Given the description of an element on the screen output the (x, y) to click on. 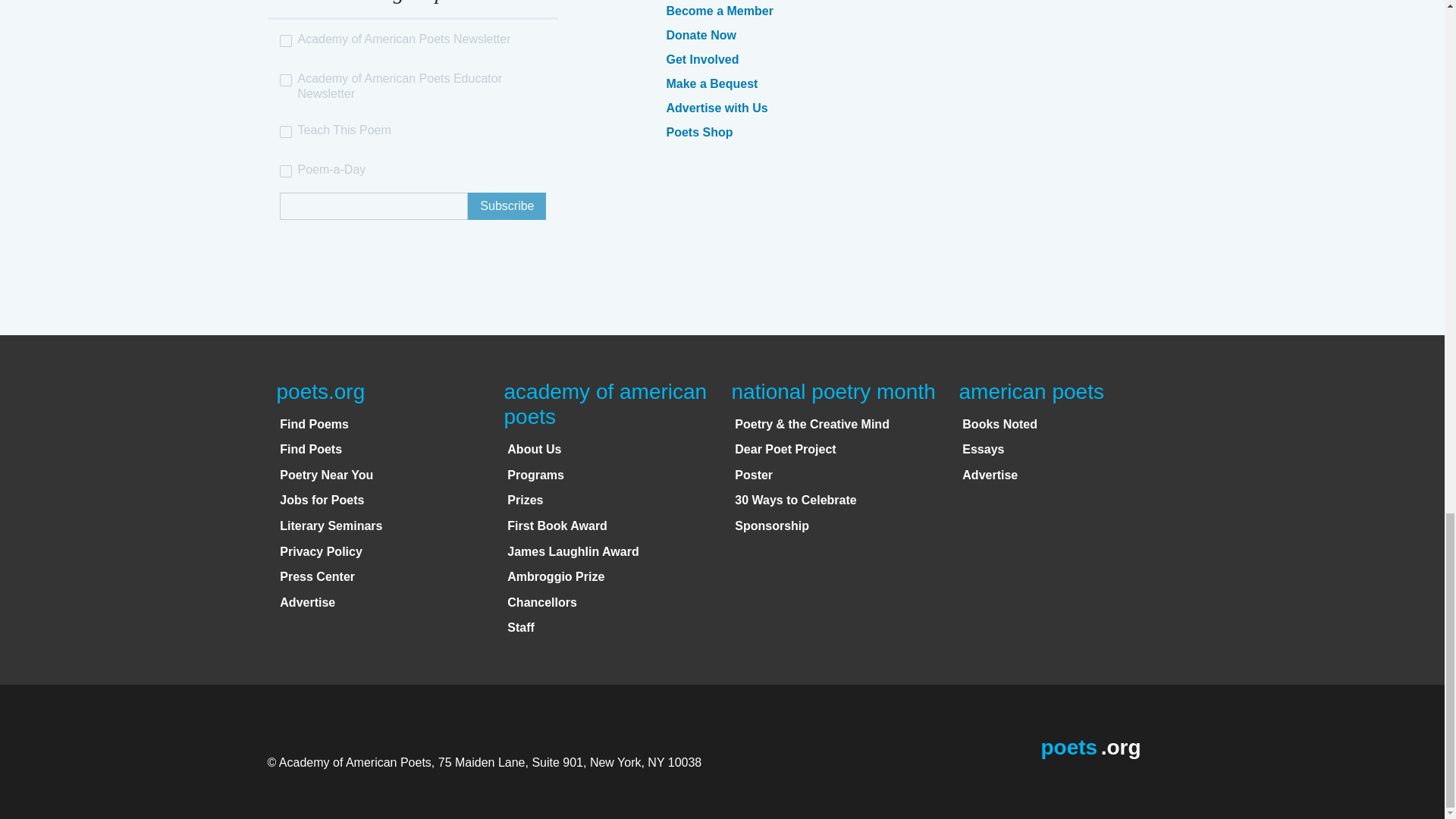
Literary Seminars (330, 525)
Programs (535, 474)
Advertise with Us (716, 107)
academy of american poets (604, 404)
About Us (533, 449)
Facebook (909, 11)
Twitter (949, 11)
Make a Bequest (711, 83)
Tumblr (991, 11)
Jobs for Poets (321, 499)
Poetry Near You (325, 474)
Press Center (317, 576)
Subscribe (506, 206)
Donate Now (700, 34)
Poets Shop (698, 132)
